Given the description of an element on the screen output the (x, y) to click on. 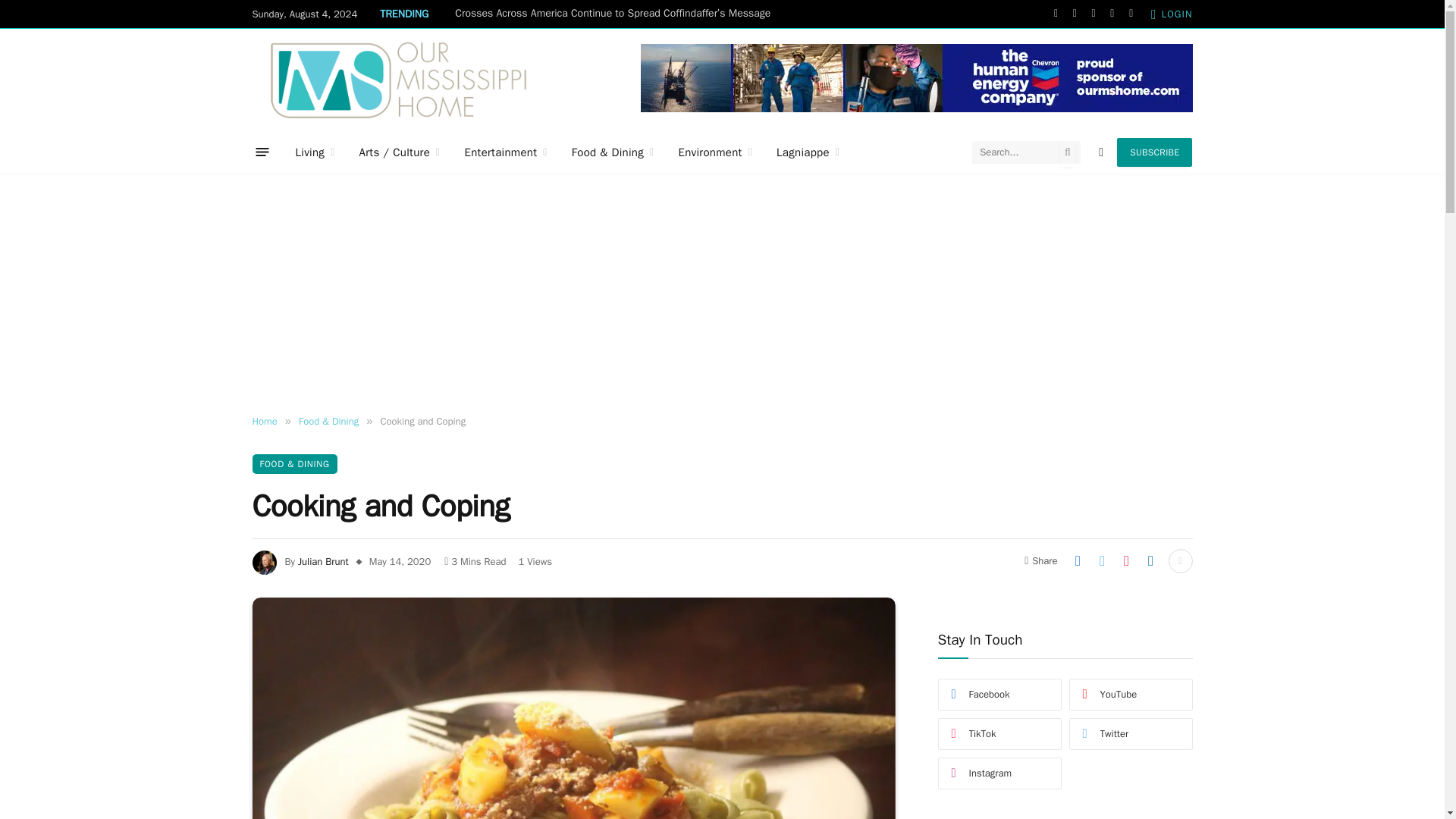
Our Mississippi Home (397, 79)
Living (315, 151)
LOGIN (1171, 13)
